Given the description of an element on the screen output the (x, y) to click on. 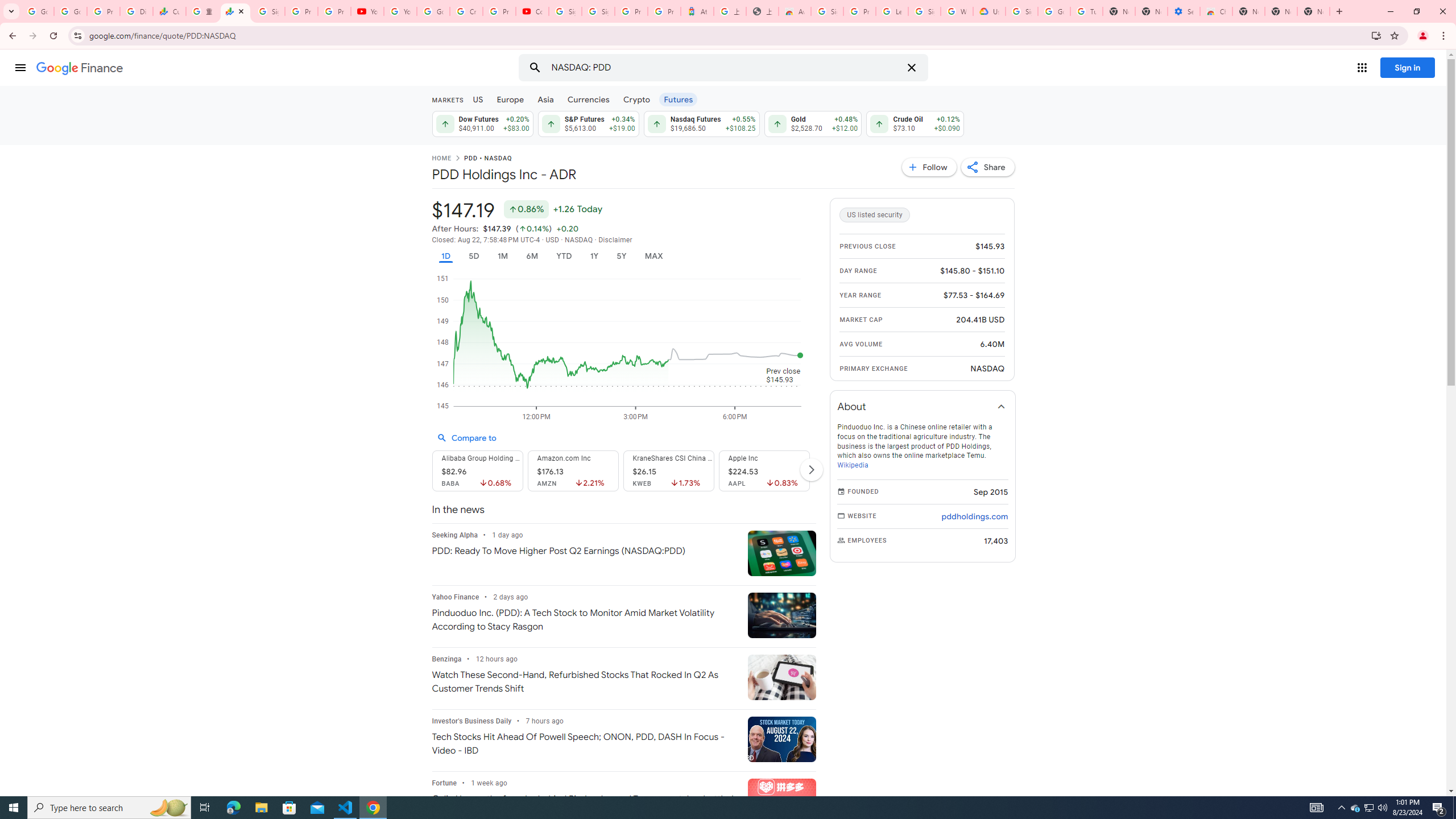
Google apps (1362, 67)
5Y (621, 255)
Search tabs (10, 11)
Sign in (1407, 67)
Search (534, 67)
Gold $2,528.70 $2,529.00 Up by 0.48% +$12.00 +$12.30 (812, 123)
New Tab (1313, 11)
Close (240, 11)
Chrome (1445, 35)
Restore (1416, 11)
Privacy Checkup (334, 11)
New Tab (1248, 11)
Asia (545, 99)
